Given the description of an element on the screen output the (x, y) to click on. 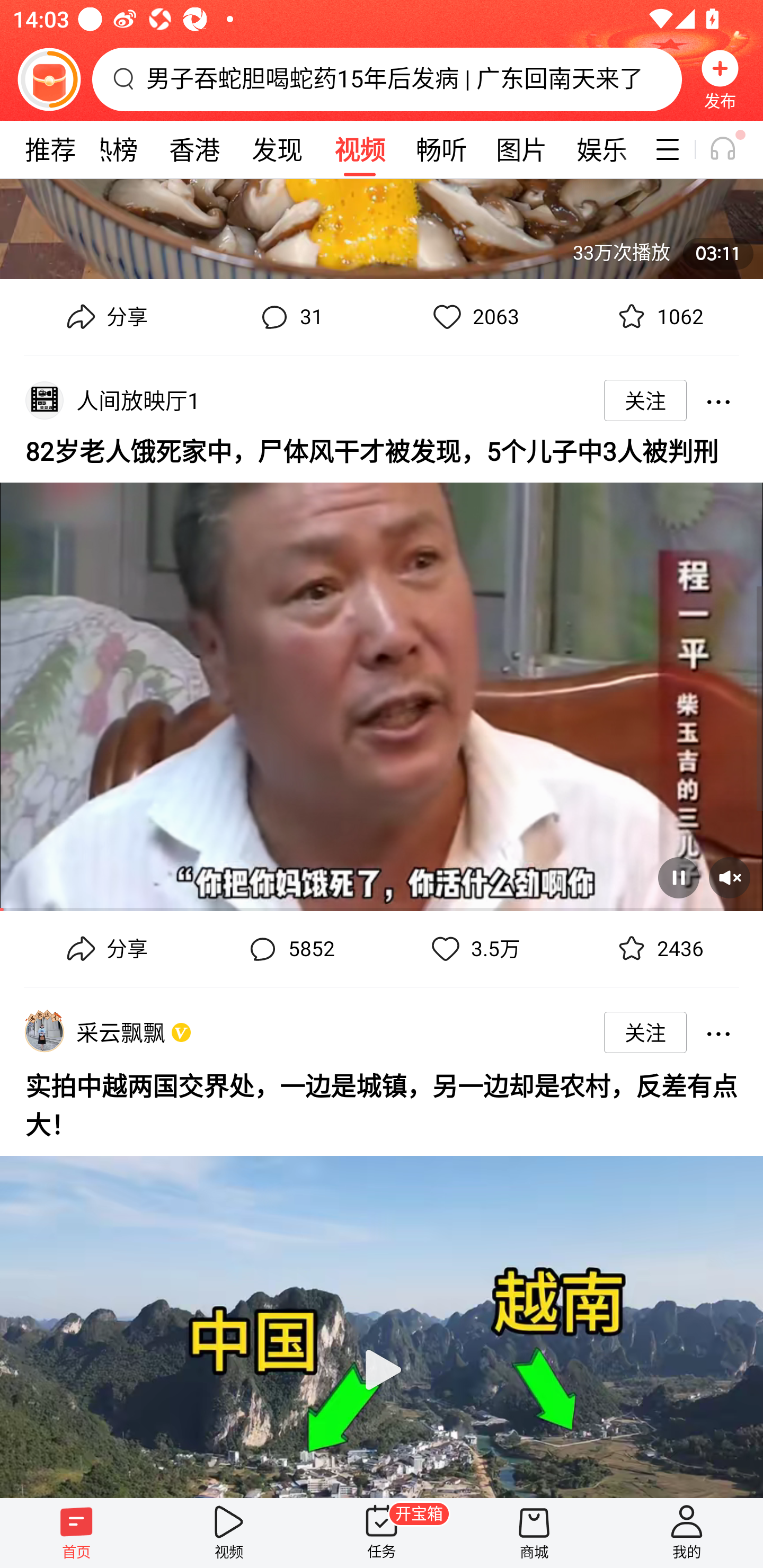
阅读赚金币 (48, 79)
发布 发布，按钮 (720, 78)
推荐 (49, 149)
香港 (194, 149)
发现 (276, 149)
视频 (359, 149)
畅听 (441, 149)
图片 (521, 149)
娱乐 (601, 149)
听一听开关 (732, 149)
分享 (104, 317)
评论,31 31 (288, 317)
收藏,1062 1062 (658, 317)
更多 (718, 400)
关注 (645, 400)
人间放映厅1头像 (44, 400)
人间放映厅1 (141, 400)
82岁老人饿死家中，尸体风干才被发现，5个儿子中3人被判刑 (381, 450)
视频播放器，双击唤起播放控制 取消静音 (381, 689)
取消静音 (729, 877)
分享 (104, 949)
评论,5852 5852 (288, 949)
收藏,2436 2436 (658, 949)
更多 (718, 1032)
关注 (645, 1032)
采云飘飘头像 (44, 1032)
采云飘飘 采云飘飘  已认证 (123, 1032)
实拍中越两国交界处，一边是城镇，另一边却是农村，反差有点大！ (381, 1102)
播放视频 (381, 1319)
首页 (76, 1532)
视频 (228, 1532)
任务 开宝箱 (381, 1532)
商城 (533, 1532)
我的 (686, 1532)
